Given the description of an element on the screen output the (x, y) to click on. 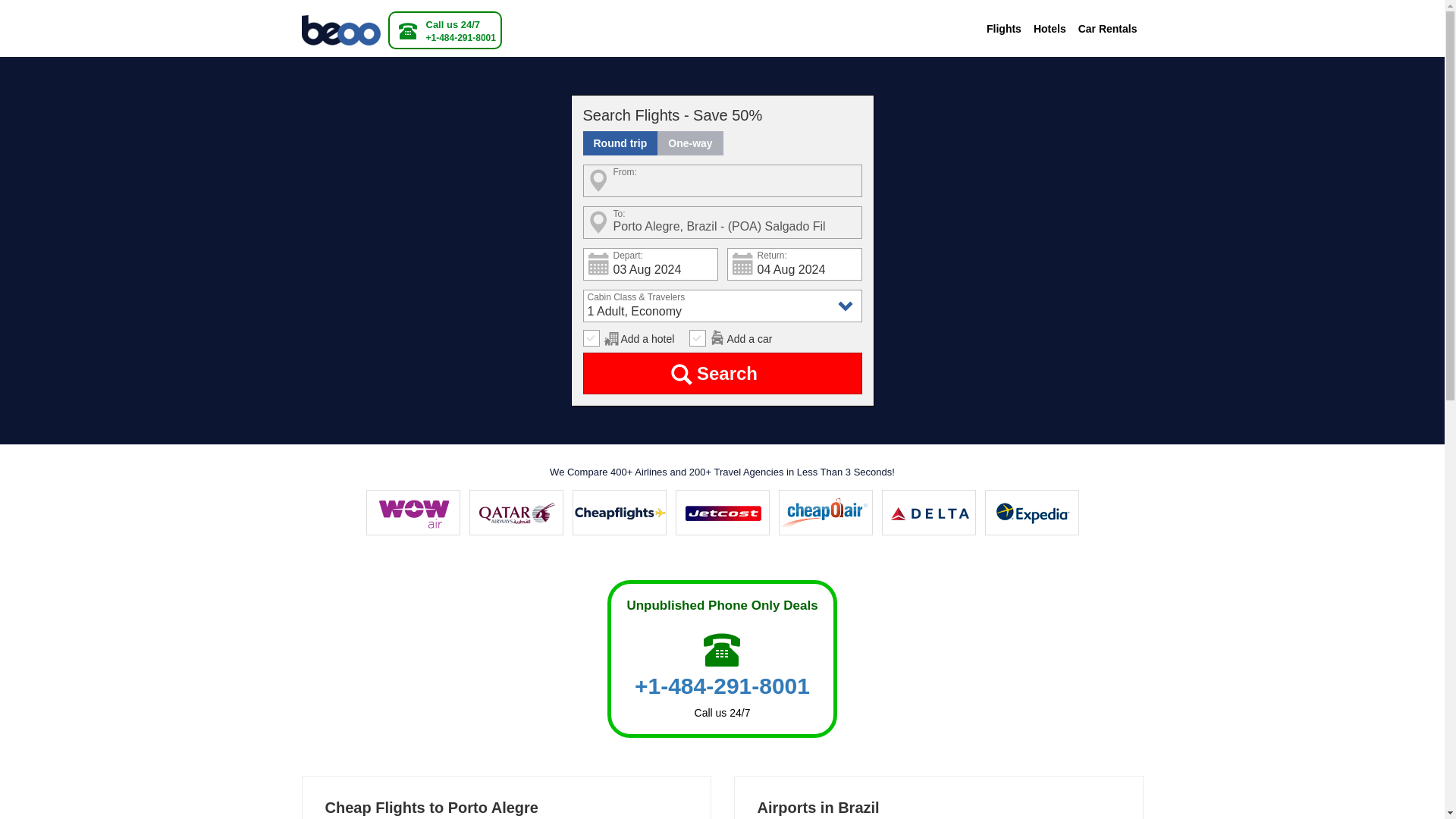
Flights (1003, 28)
Hotels (1049, 28)
Car Rentals (1106, 28)
Search (721, 372)
